Given the description of an element on the screen output the (x, y) to click on. 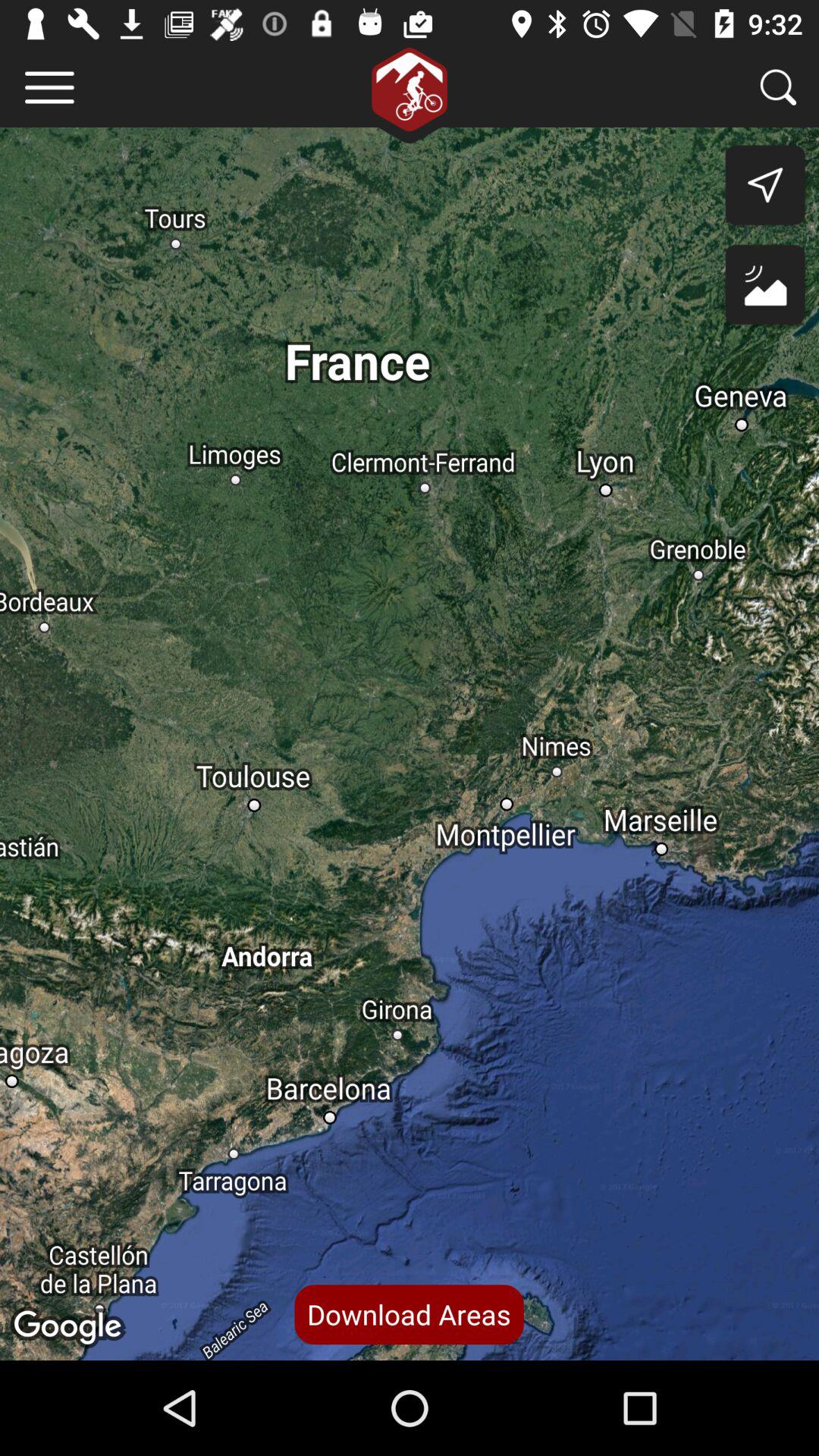
search an area more specifically (778, 87)
